Given the description of an element on the screen output the (x, y) to click on. 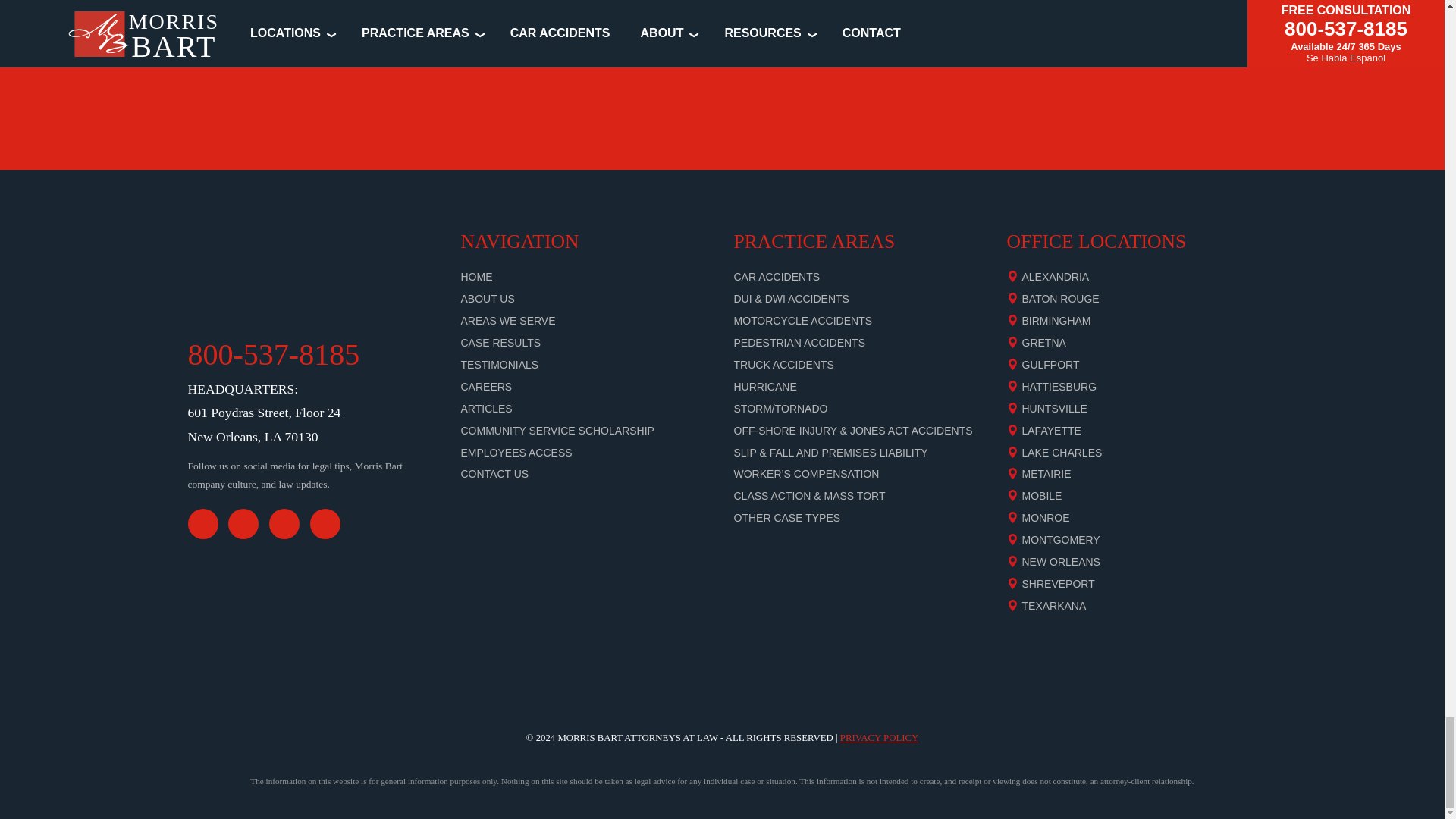
Testimonials (499, 364)
Areas We Serve (508, 320)
Articles (486, 408)
Careers (486, 386)
Case results (501, 342)
About us (488, 298)
